Given the description of an element on the screen output the (x, y) to click on. 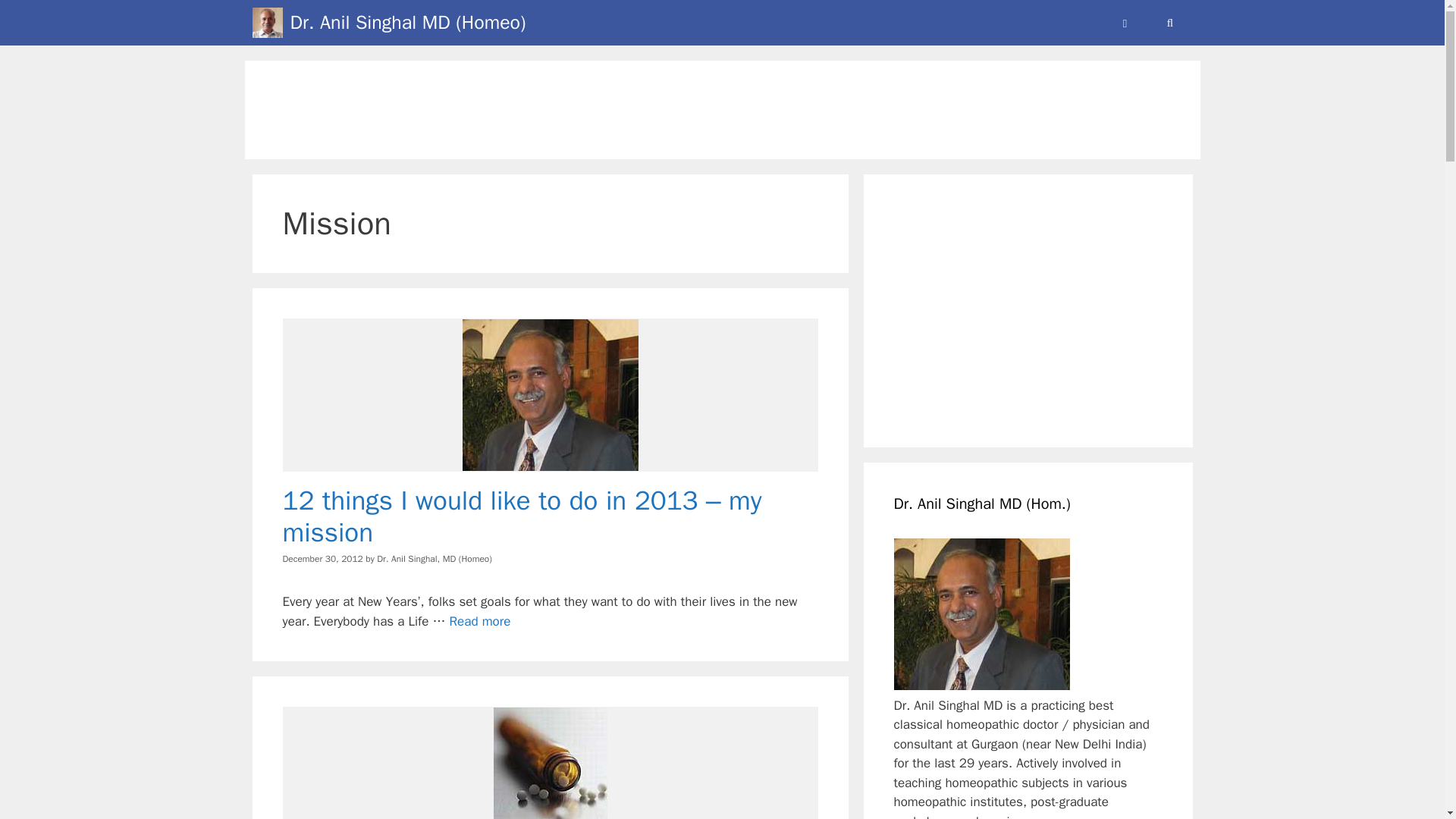
Advertisement (721, 110)
Read more (480, 621)
